Given the description of an element on the screen output the (x, y) to click on. 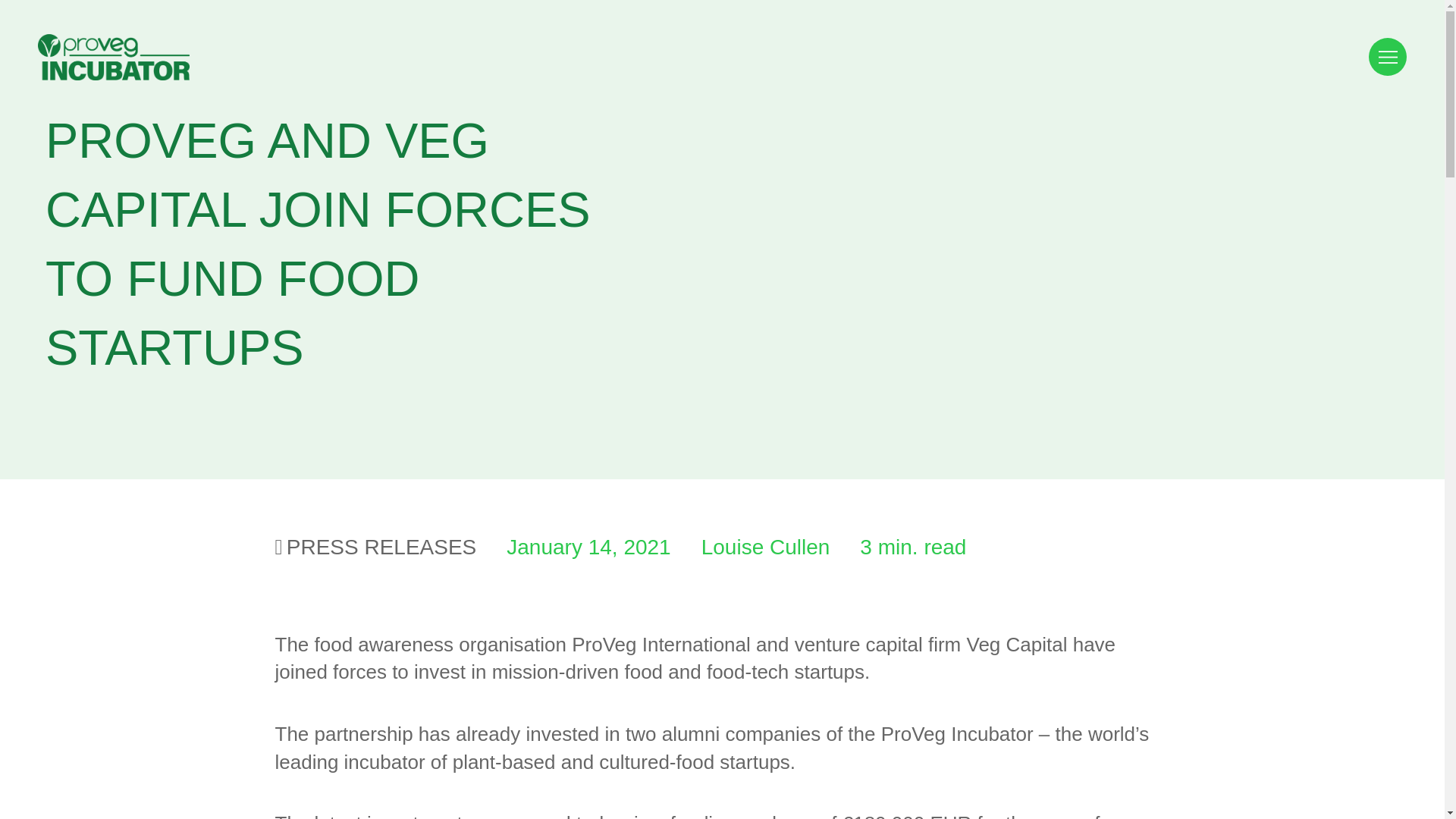
Louise Cullen (750, 546)
January 14, 2021 (572, 546)
3 min. read (897, 546)
PRESS RELEASES (375, 546)
